Given the description of an element on the screen output the (x, y) to click on. 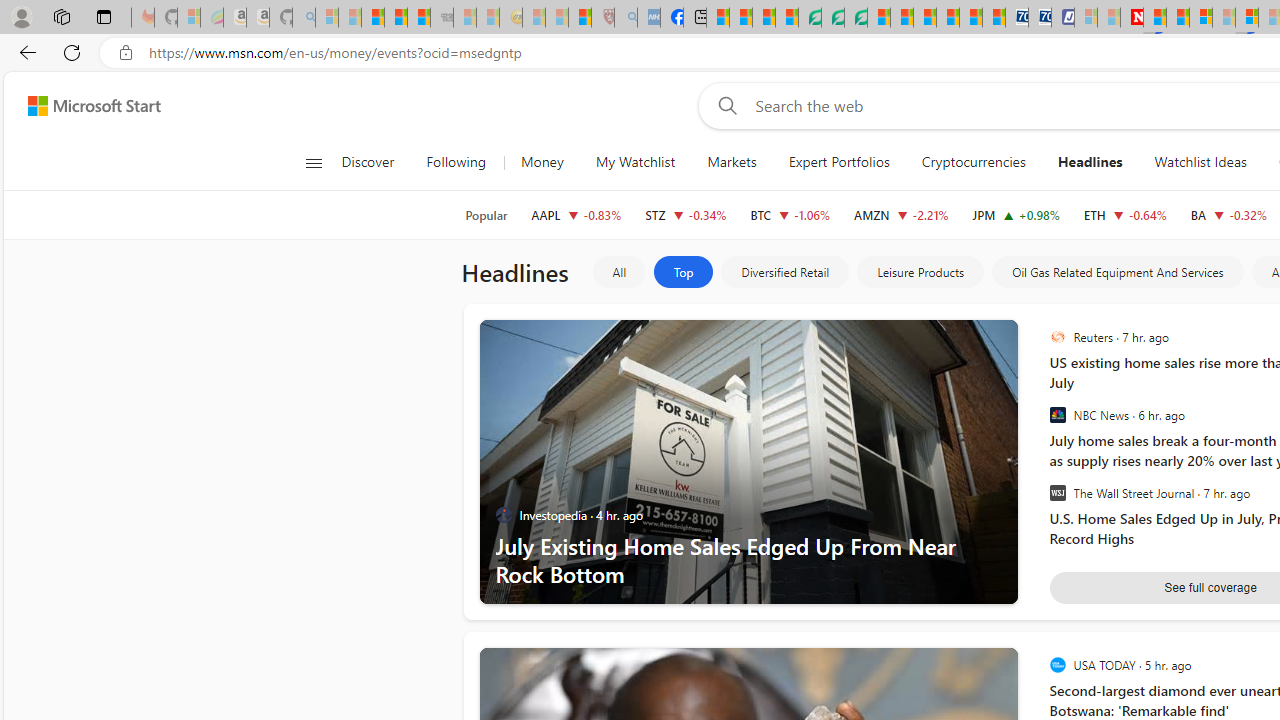
Microsoft-Report a Concern to Bing - Sleeping (188, 17)
New tab (694, 17)
Local - MSN (580, 17)
Cryptocurrencies (972, 162)
Microsoft Start (94, 105)
Headlines (1089, 162)
NBC News (1057, 415)
Markets (732, 162)
Class: button-glyph (313, 162)
Discover (367, 162)
All (618, 272)
AMZN AMAZON.COM, INC. decrease 176.13 -3.98 -2.21% (901, 214)
